Given the description of an element on the screen output the (x, y) to click on. 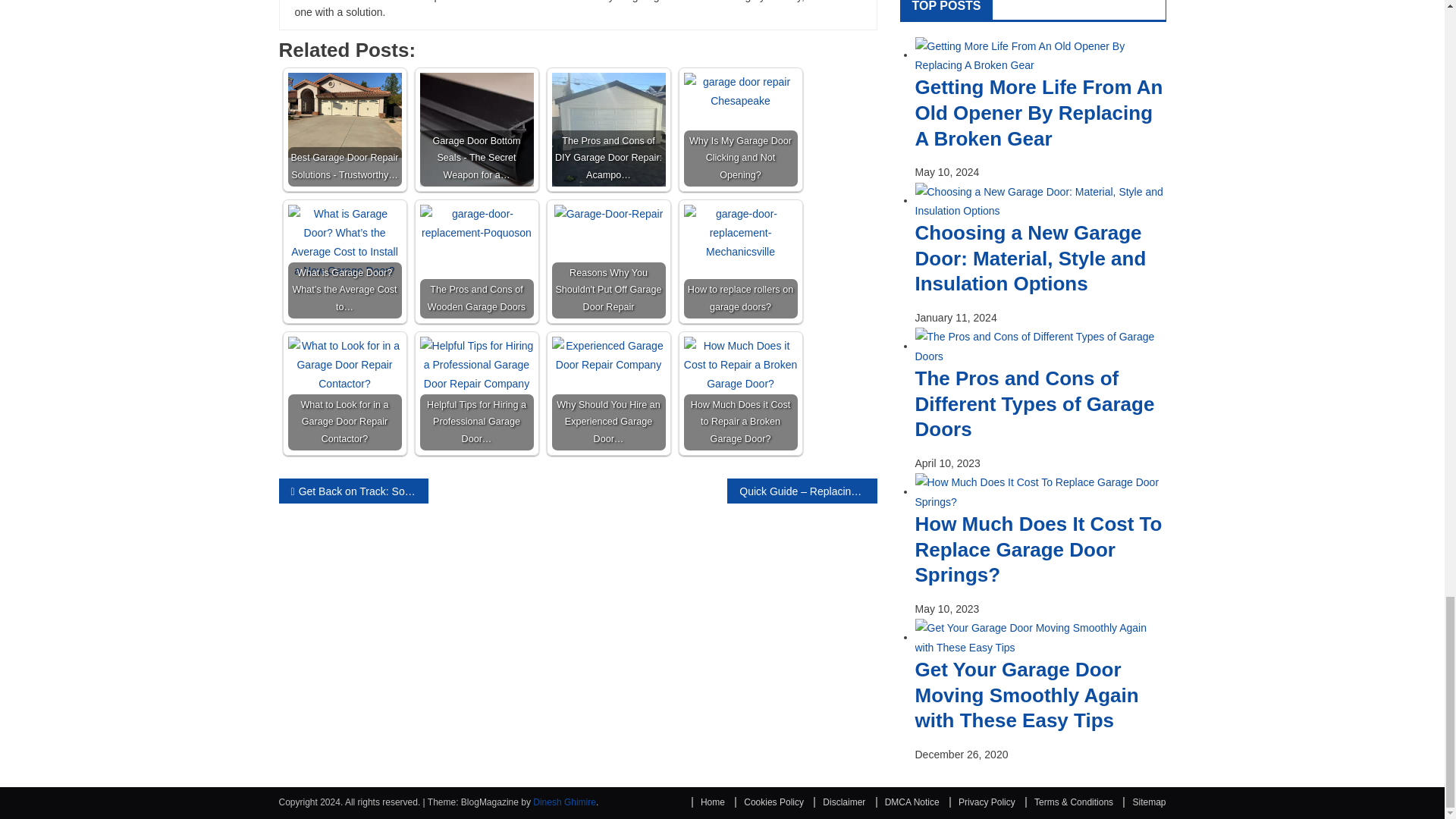
What to Look for in a Garage Door Repair Contactor? (344, 364)
How to replace rollers on garage doors? (740, 233)
Why Is My Garage Door Clicking and Not Opening? (740, 91)
The Pros and Cons of Wooden Garage Doors (477, 223)
Reasons Why You Shouldn't Put Off Garage Door Repair (608, 213)
How Much Does it Cost to Repair a Broken Garage Door? (740, 364)
